Given the description of an element on the screen output the (x, y) to click on. 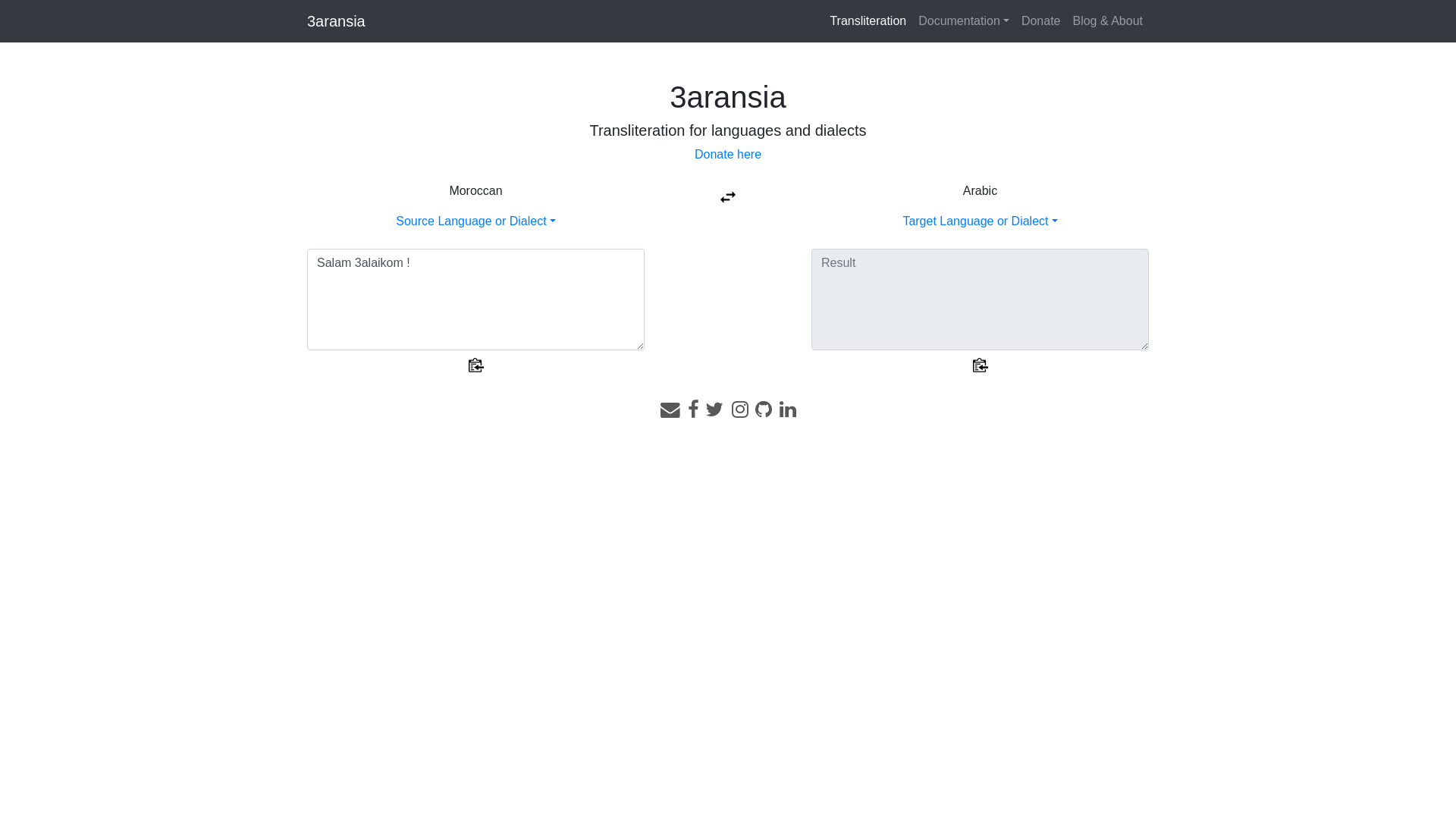
Donate Element type: text (1040, 21)
Source Language or Dialect Element type: text (475, 220)
3aransia Element type: text (336, 21)
Blog & About Element type: text (1107, 21)
Transliteration Element type: text (867, 21)
Target Language or Dialect Element type: text (979, 220)
Donate here Element type: text (727, 153)
Documentation Element type: text (963, 21)
